Given the description of an element on the screen output the (x, y) to click on. 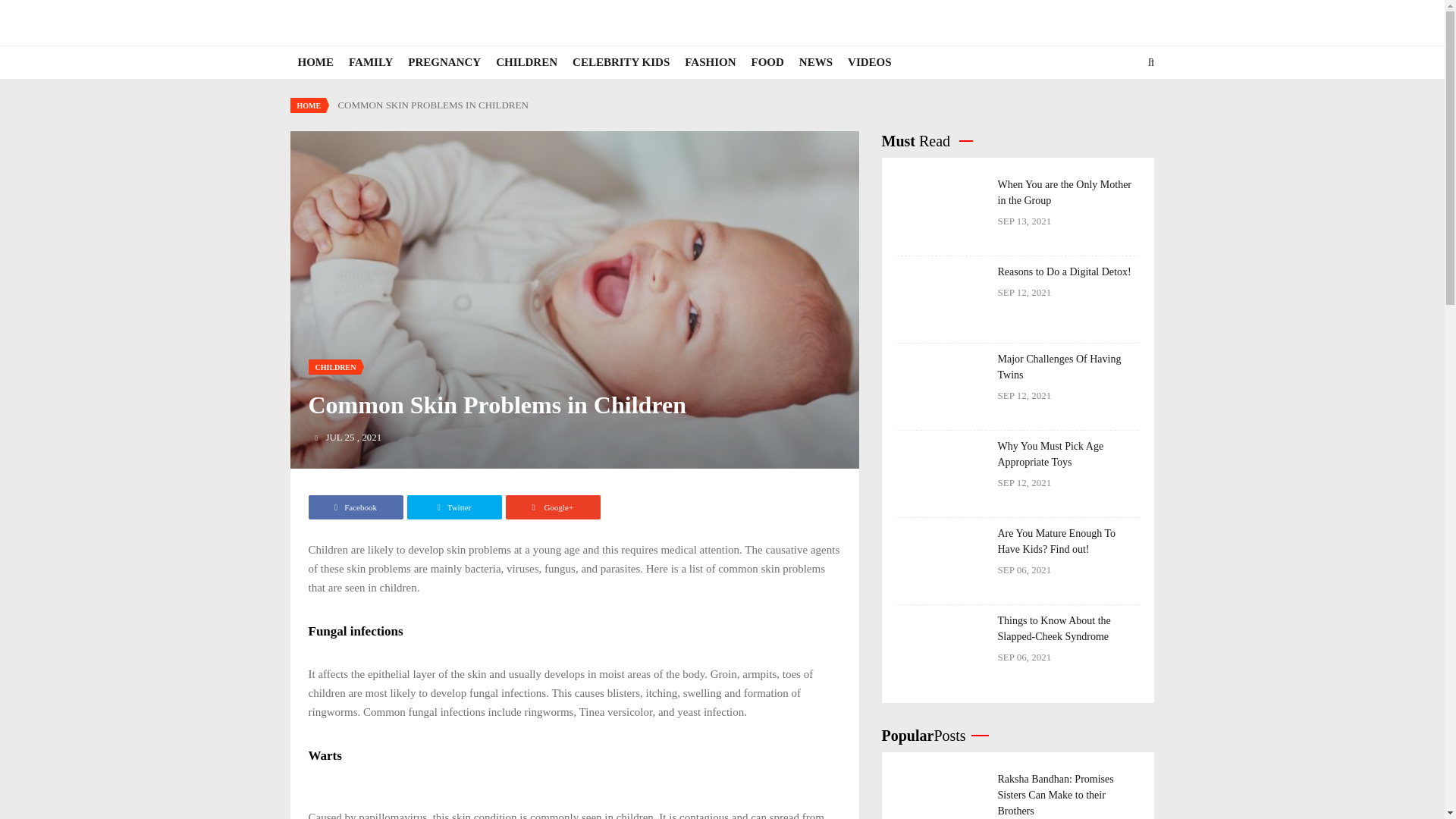
CHILDREN (525, 61)
PREGNANCY (443, 61)
CHILDREN (334, 366)
Twitter (453, 507)
FASHION (709, 61)
Facebook (355, 507)
NEWS (816, 61)
VIDEOS (869, 61)
HOME (307, 105)
CELEBRITY KIDS (620, 61)
